Given the description of an element on the screen output the (x, y) to click on. 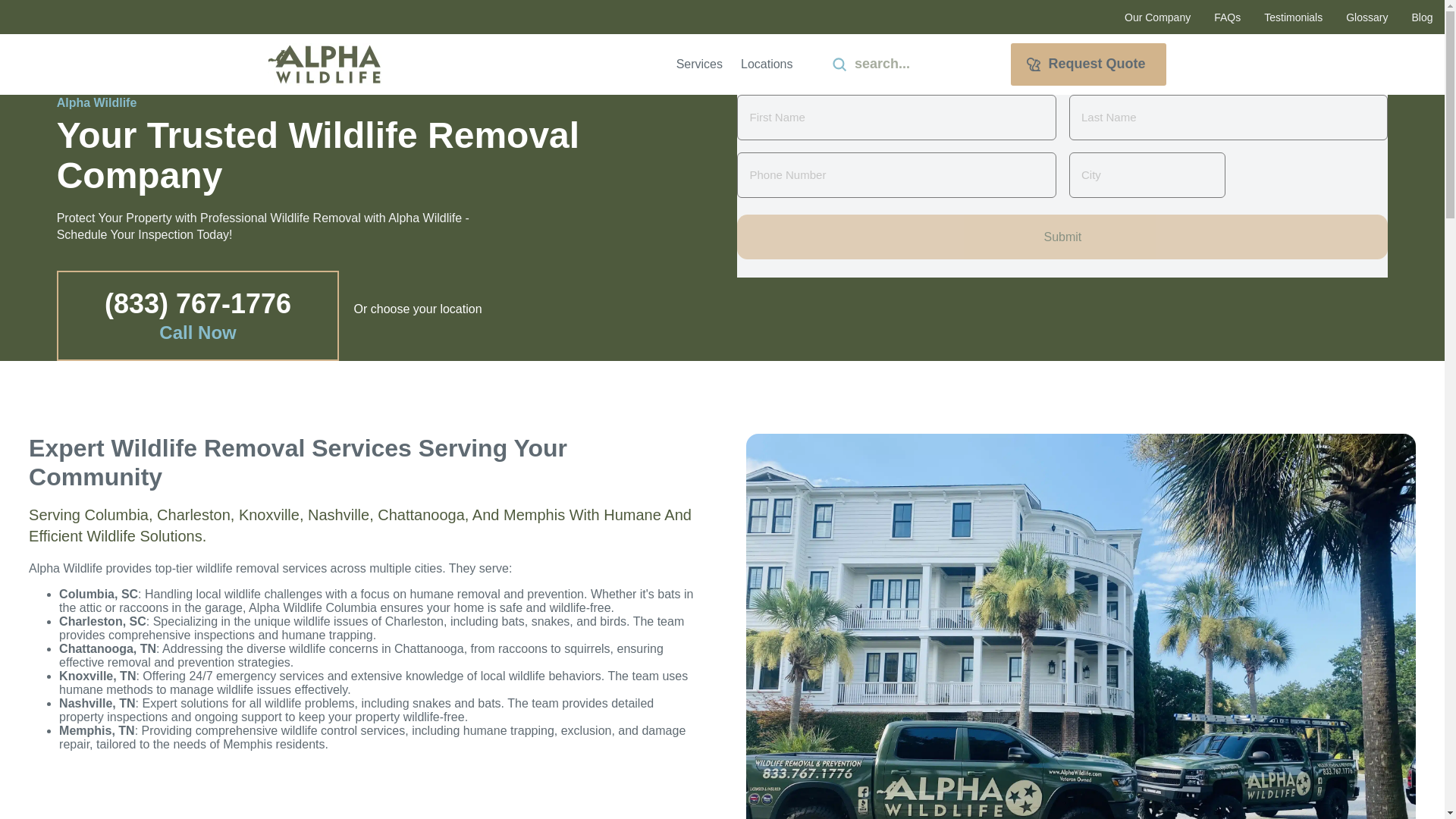
Submit (838, 64)
Our Company (1157, 17)
Glossary (1367, 17)
Submit (1061, 236)
Testimonials (1293, 17)
Submit (1061, 236)
FAQs (1227, 17)
Request Quote (1088, 64)
